Given the description of an element on the screen output the (x, y) to click on. 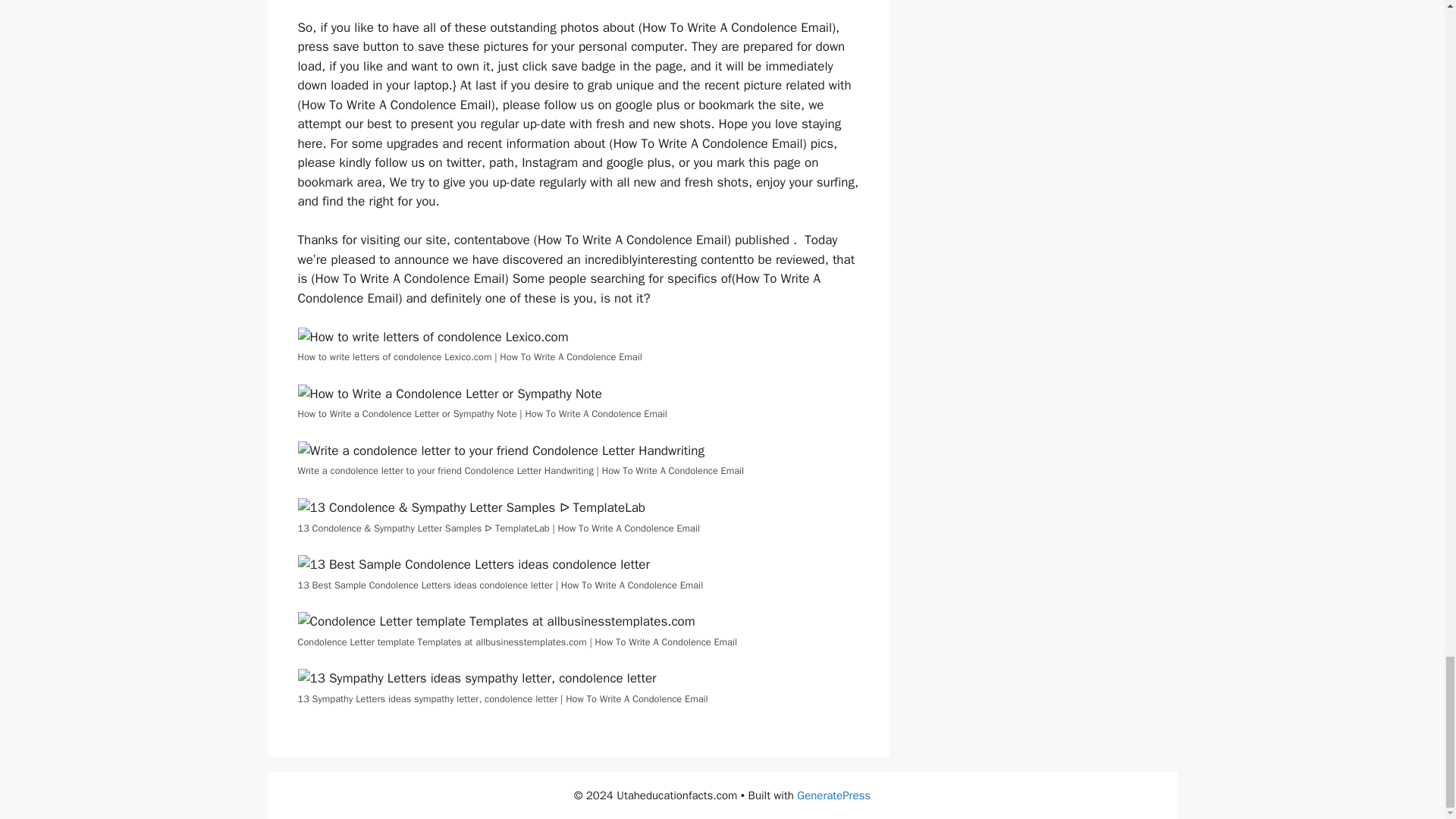
GeneratePress (833, 795)
13 Best Sample Condolence Letters ideas  condolence letter (473, 564)
How to Write a Condolence Letter or Sympathy Note (449, 394)
How to write letters of condolence  Lexico.com (432, 337)
